Given the description of an element on the screen output the (x, y) to click on. 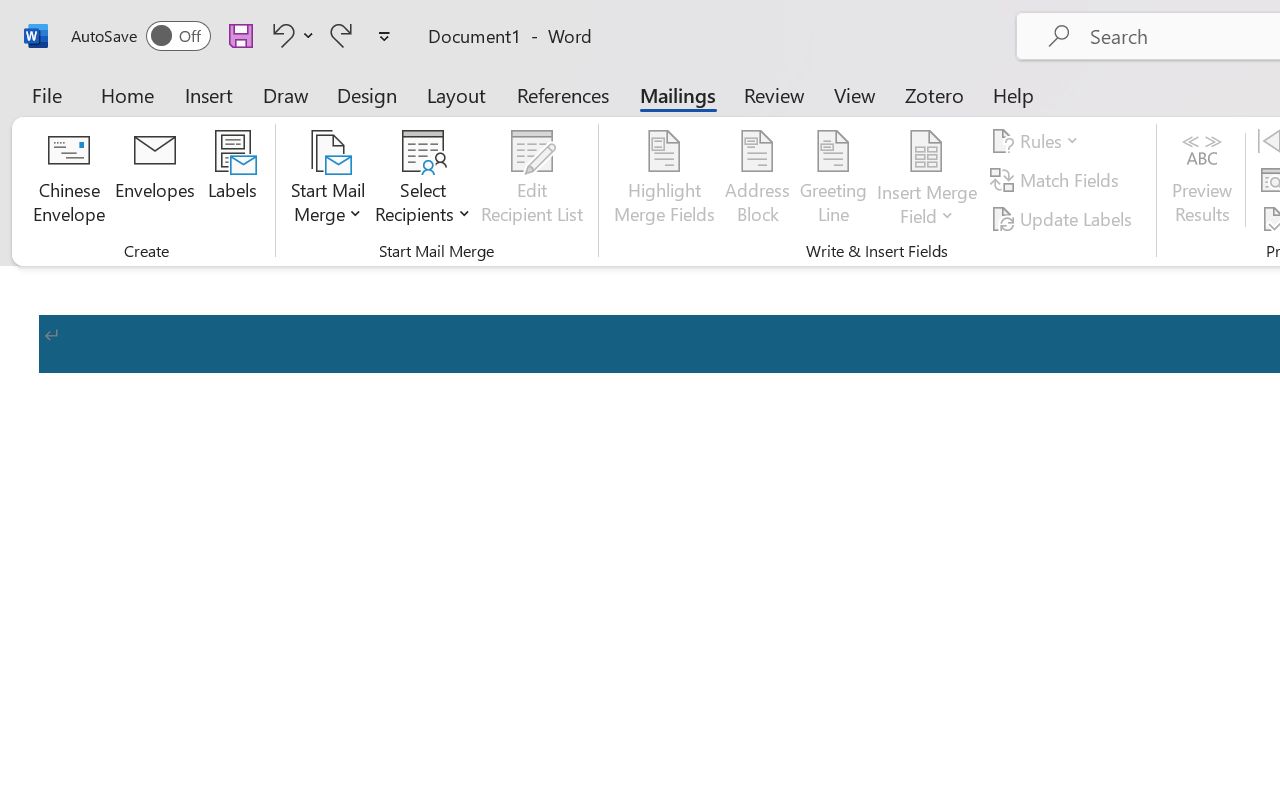
Envelopes... (155, 179)
Redo Apply Quick Style (341, 35)
Select Recipients (423, 179)
Edit Recipient List... (532, 179)
Insert Merge Field (927, 151)
Greeting Line... (833, 179)
